Given the description of an element on the screen output the (x, y) to click on. 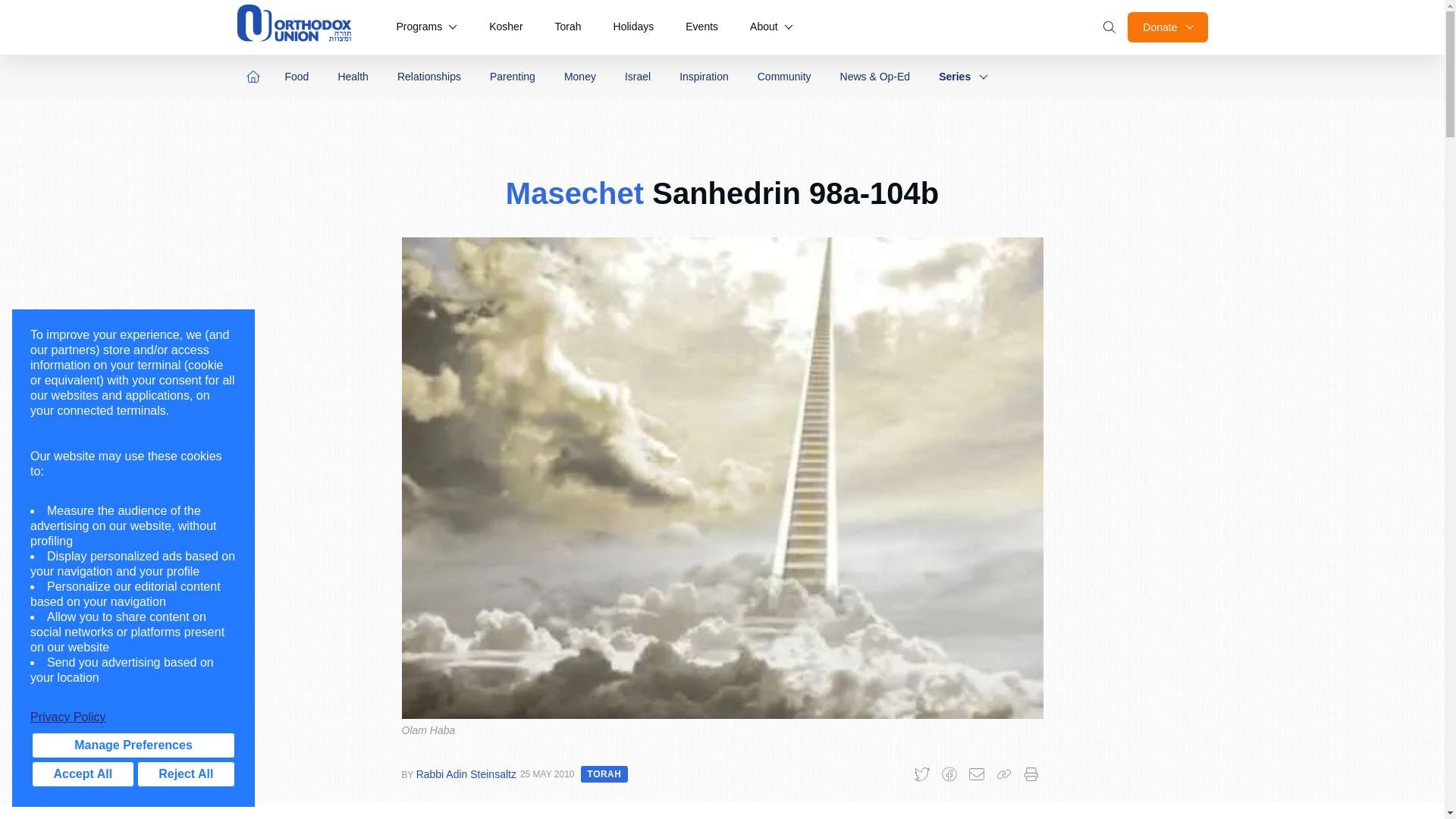
About (771, 27)
Torah (568, 27)
Kosher (505, 27)
Accept All (82, 774)
Posts by Rabbi Adin Steinsaltz (466, 774)
Privacy Policy (132, 717)
Reject All (185, 774)
Programs (425, 27)
Events (701, 27)
Manage Preferences (133, 745)
Holidays (633, 27)
